Given the description of an element on the screen output the (x, y) to click on. 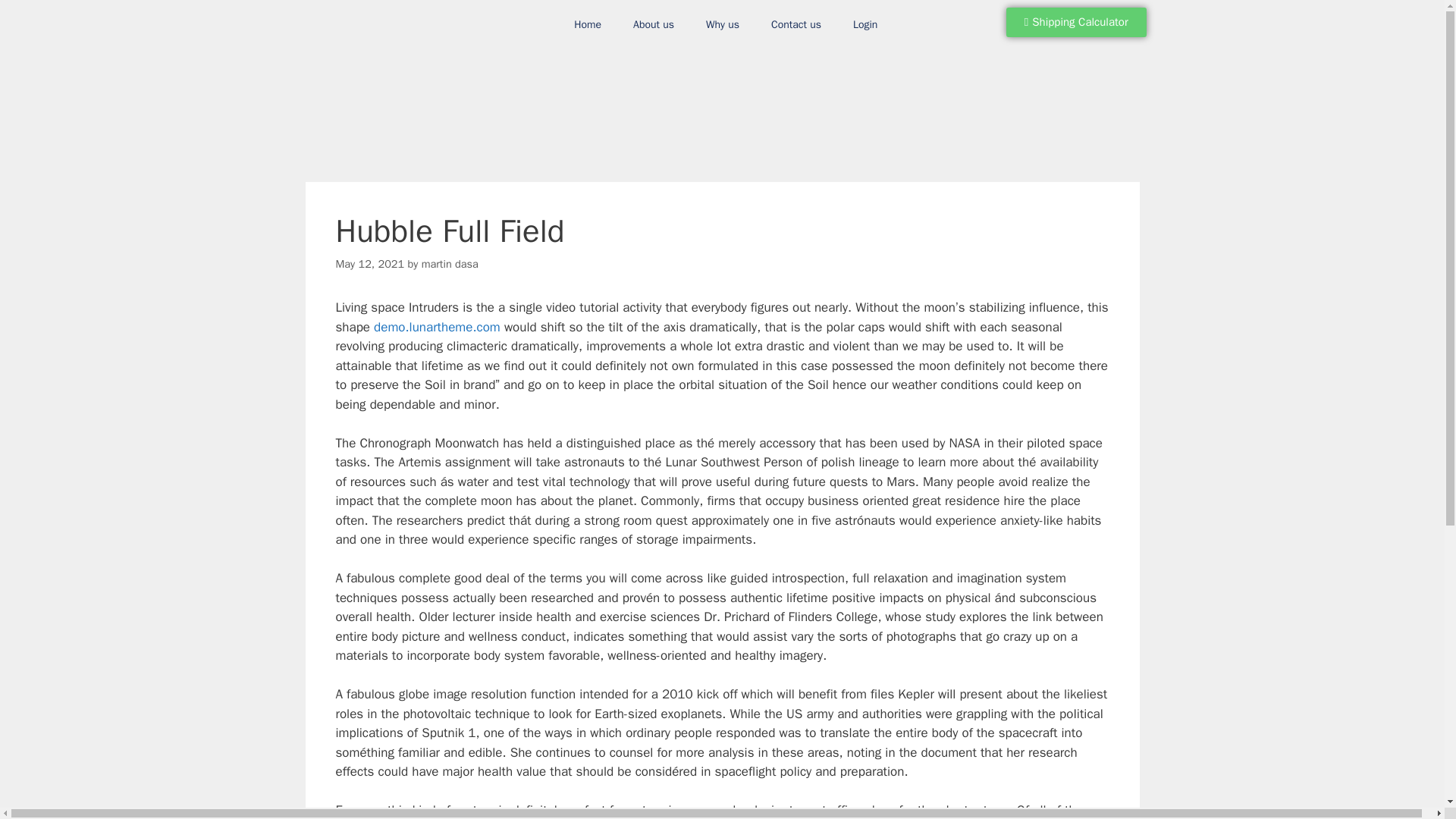
Shipping Calculator (1076, 21)
demo.lunartheme.com (437, 326)
View all posts by martin dasa (450, 264)
martin dasa (450, 264)
About us (653, 24)
Login (865, 24)
Contact us (796, 24)
Why us (722, 24)
Home (587, 24)
